Given the description of an element on the screen output the (x, y) to click on. 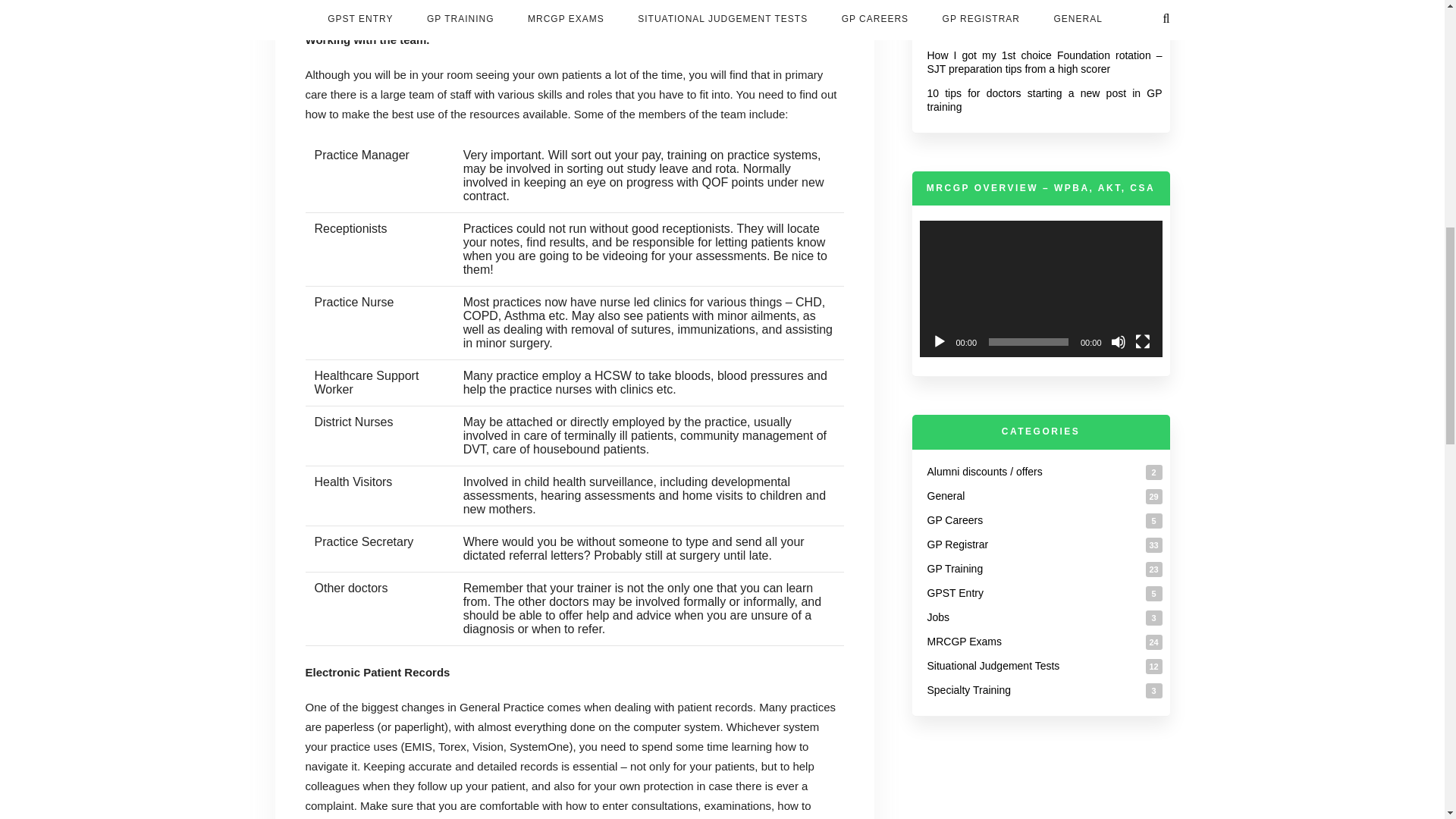
Fullscreen (1142, 341)
Play (938, 341)
Mute (1117, 341)
